Given the description of an element on the screen output the (x, y) to click on. 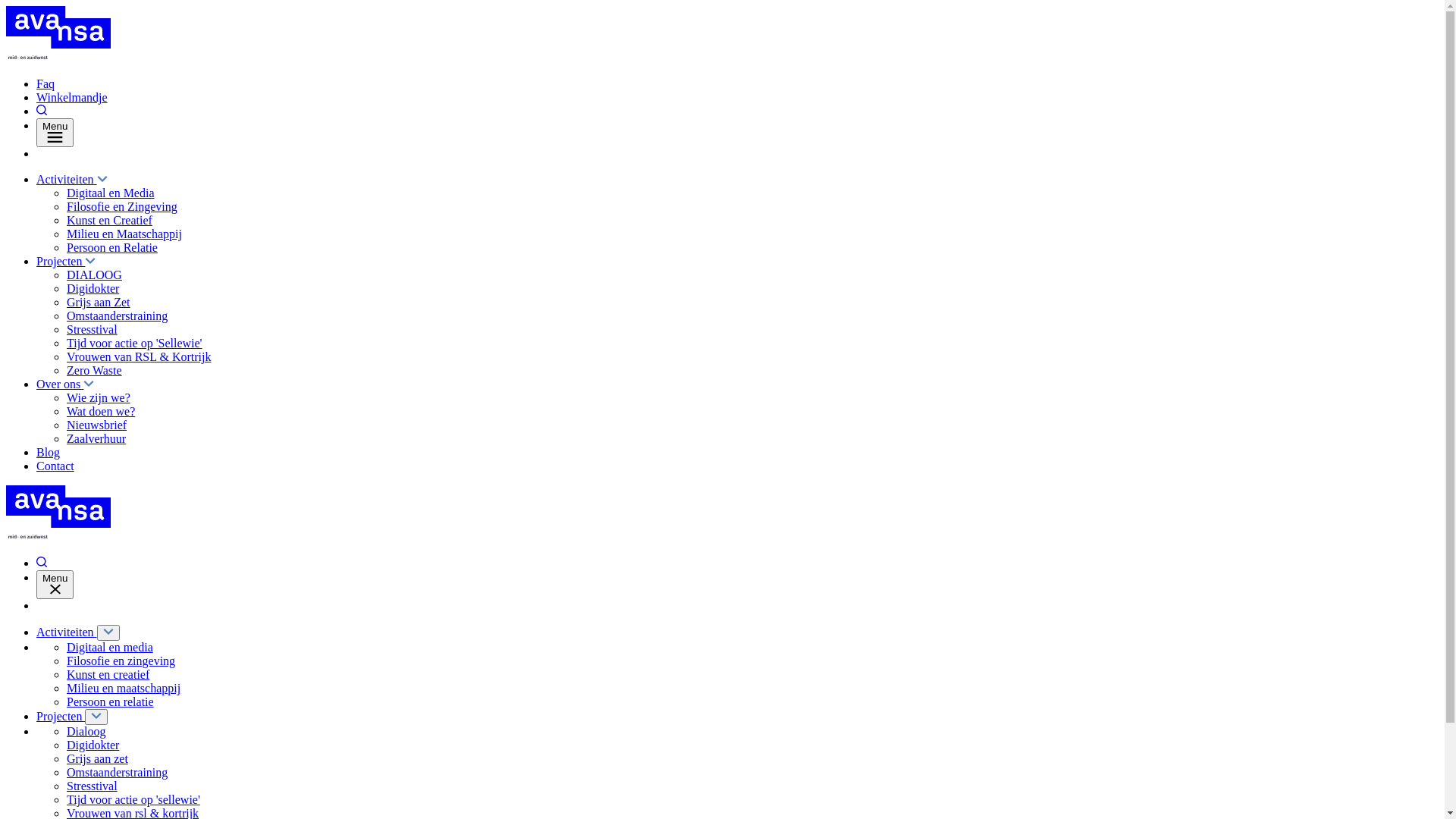
Filosofie en Zingeving Element type: text (121, 206)
Grijs aan Zet Element type: text (98, 301)
Zaalverhuur Element type: text (95, 438)
Milieu en Maatschappij Element type: text (124, 233)
Filosofie en zingeving Element type: text (120, 660)
Grijs aan zet Element type: text (97, 758)
Winkelmandje Element type: text (71, 97)
Contact Element type: text (55, 465)
Tijd voor actie op 'sellewie' Element type: text (133, 799)
Activiteiten Element type: text (71, 178)
Milieu en maatschappij Element type: text (123, 687)
Blog Element type: text (47, 451)
Zero Waste Element type: text (94, 370)
Over ons Element type: text (65, 383)
Menu Element type: text (54, 132)
Stresstival Element type: text (91, 785)
Kunst en Creatief Element type: text (109, 219)
Persoon en relatie Element type: text (109, 701)
Stresstival Element type: text (91, 329)
Persoon en Relatie Element type: text (111, 247)
Vrouwen van RSL & Kortrijk Element type: text (138, 356)
Digitaal en Media Element type: text (110, 192)
Activiteiten Element type: text (66, 631)
Digidokter Element type: text (92, 744)
Nieuwsbrief Element type: text (96, 424)
Dialoog Element type: text (86, 730)
Projecten Element type: text (65, 260)
Digidokter Element type: text (92, 288)
DIALOOG Element type: text (94, 274)
Omstaanderstraining Element type: text (116, 771)
Digitaal en media Element type: text (109, 646)
Menu Element type: text (54, 584)
Faq Element type: text (45, 83)
Projecten Element type: text (60, 715)
Tijd voor actie op 'Sellewie' Element type: text (133, 342)
Omstaanderstraining Element type: text (116, 315)
Wat doen we? Element type: text (100, 410)
Kunst en creatief Element type: text (107, 674)
Wie zijn we? Element type: text (98, 397)
